Given the description of an element on the screen output the (x, y) to click on. 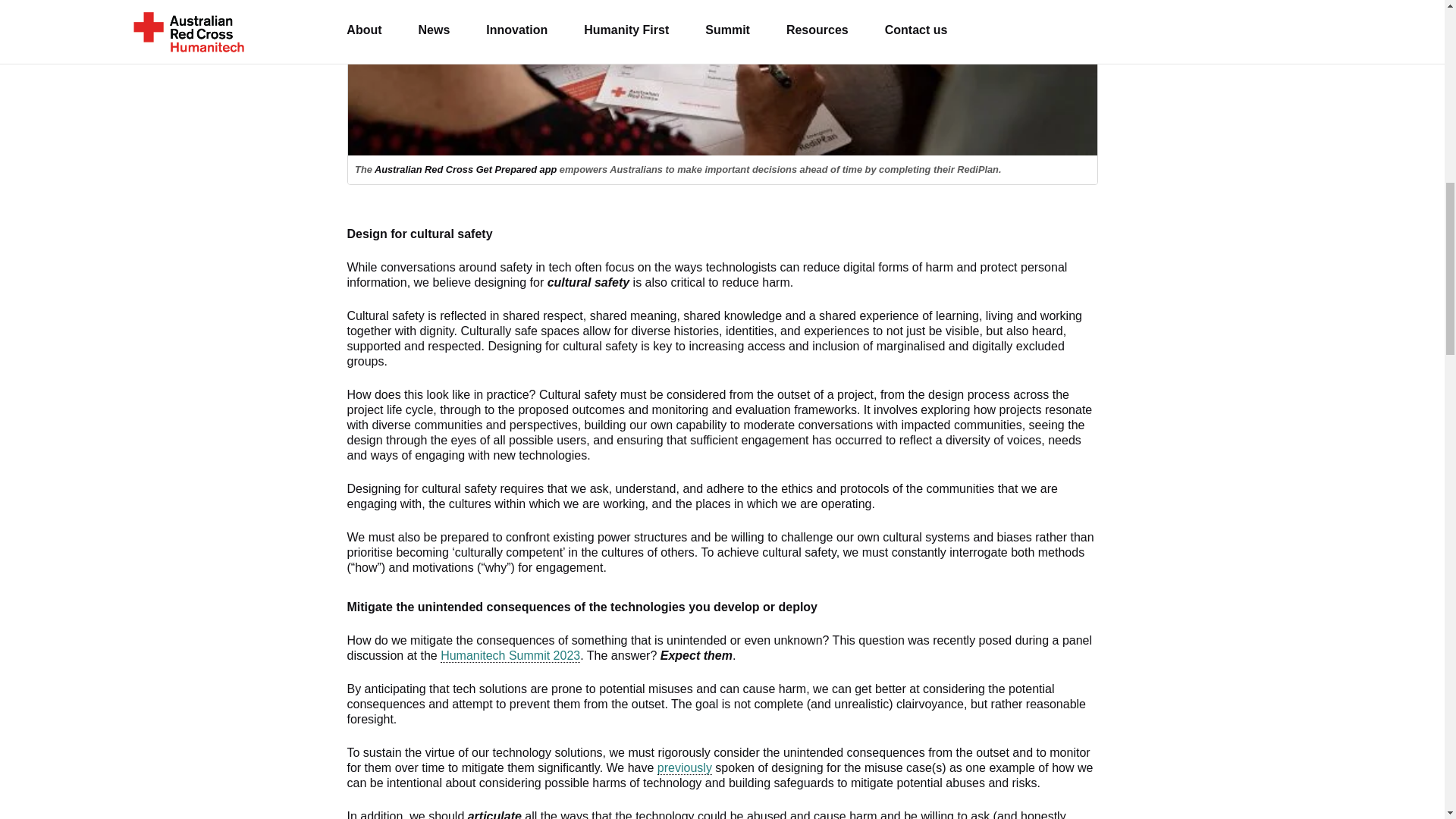
Humanitech Summit 2023 (510, 655)
previously (684, 767)
Australian Red Cross Get Prepared app (465, 169)
